Given the description of an element on the screen output the (x, y) to click on. 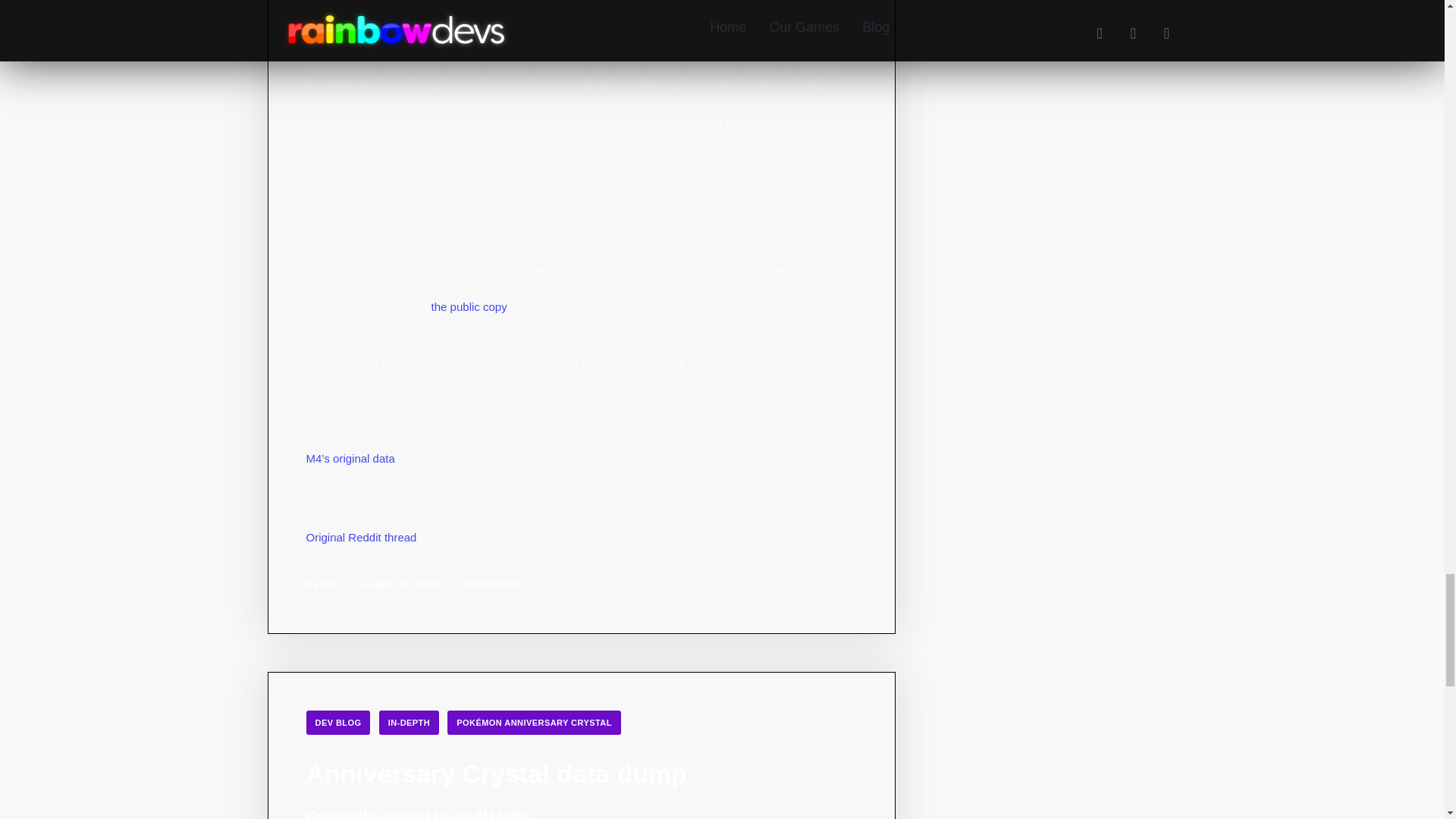
Original Reddit thread (360, 536)
the public copy (468, 306)
